Given the description of an element on the screen output the (x, y) to click on. 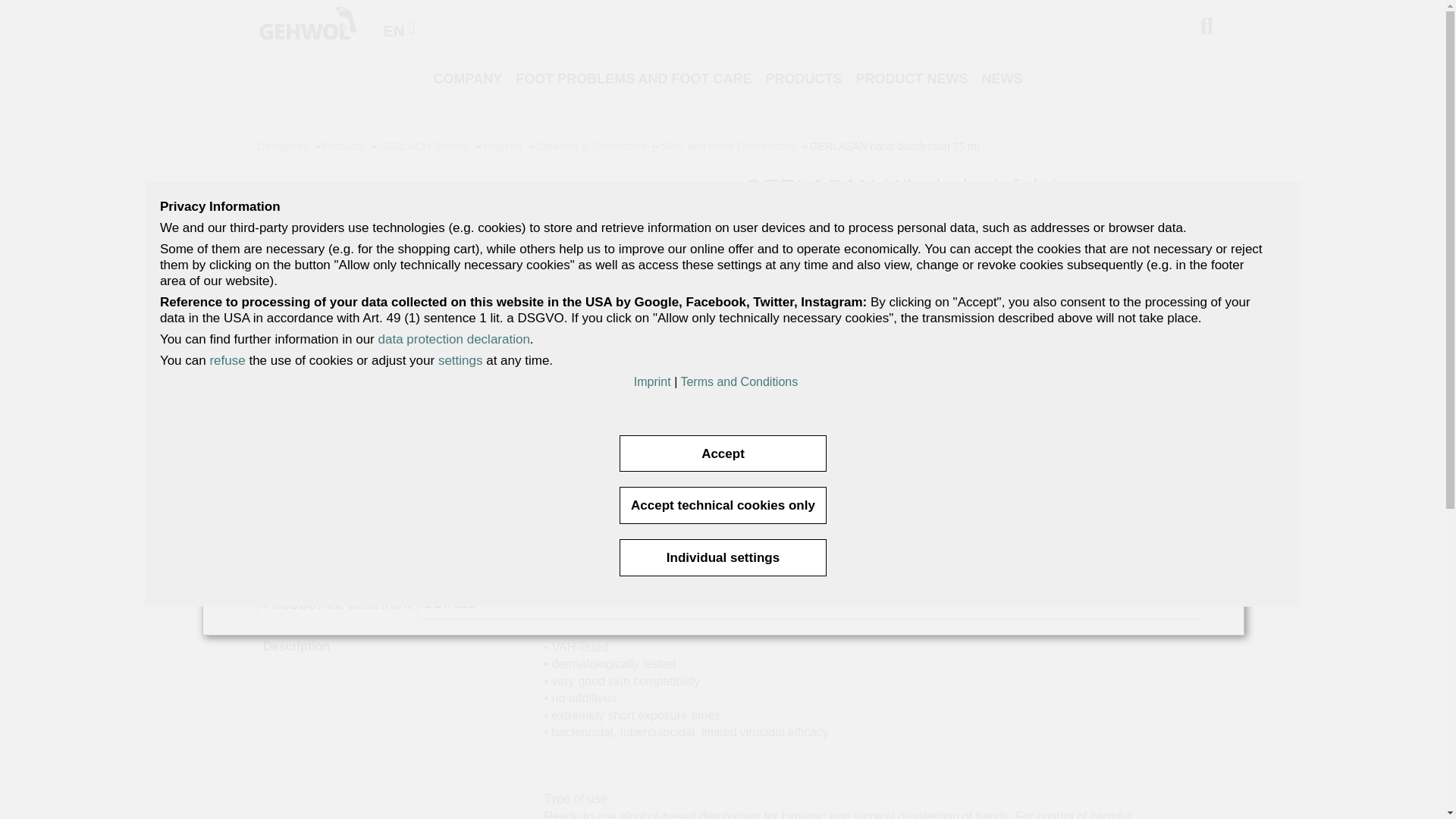
settings (460, 359)
Accept technical cookies only (722, 505)
data protection declaration (453, 339)
Company (470, 78)
Individual settings (722, 557)
Imprint (652, 381)
Imprint (652, 381)
data protection declaration (453, 339)
PRODUCTS (806, 78)
Accept (722, 453)
